Given the description of an element on the screen output the (x, y) to click on. 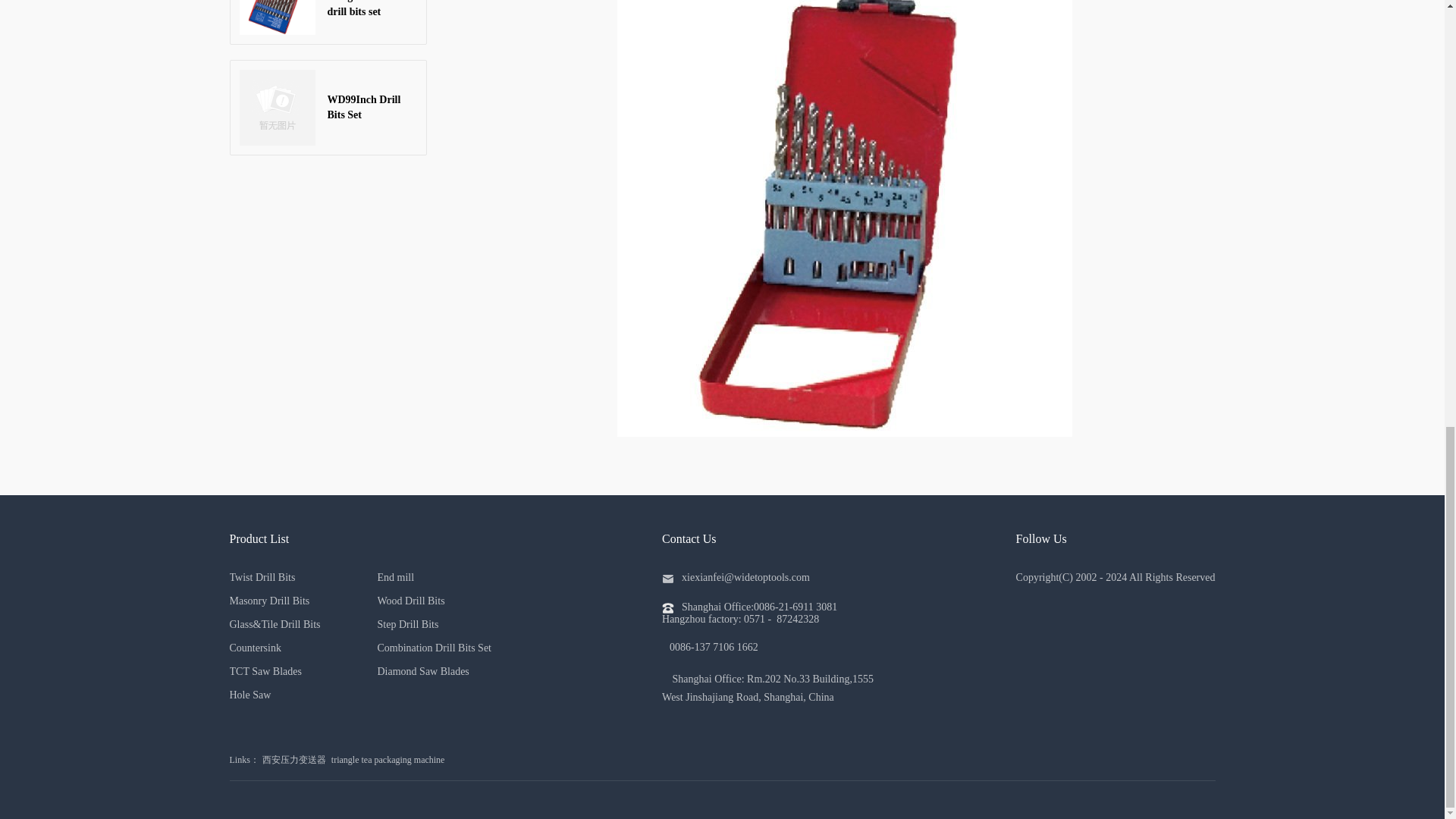
WD11130-13pcs half ground twist drill bits set (327, 22)
WD99Inch Drill Bits Set (327, 107)
